Given the description of an element on the screen output the (x, y) to click on. 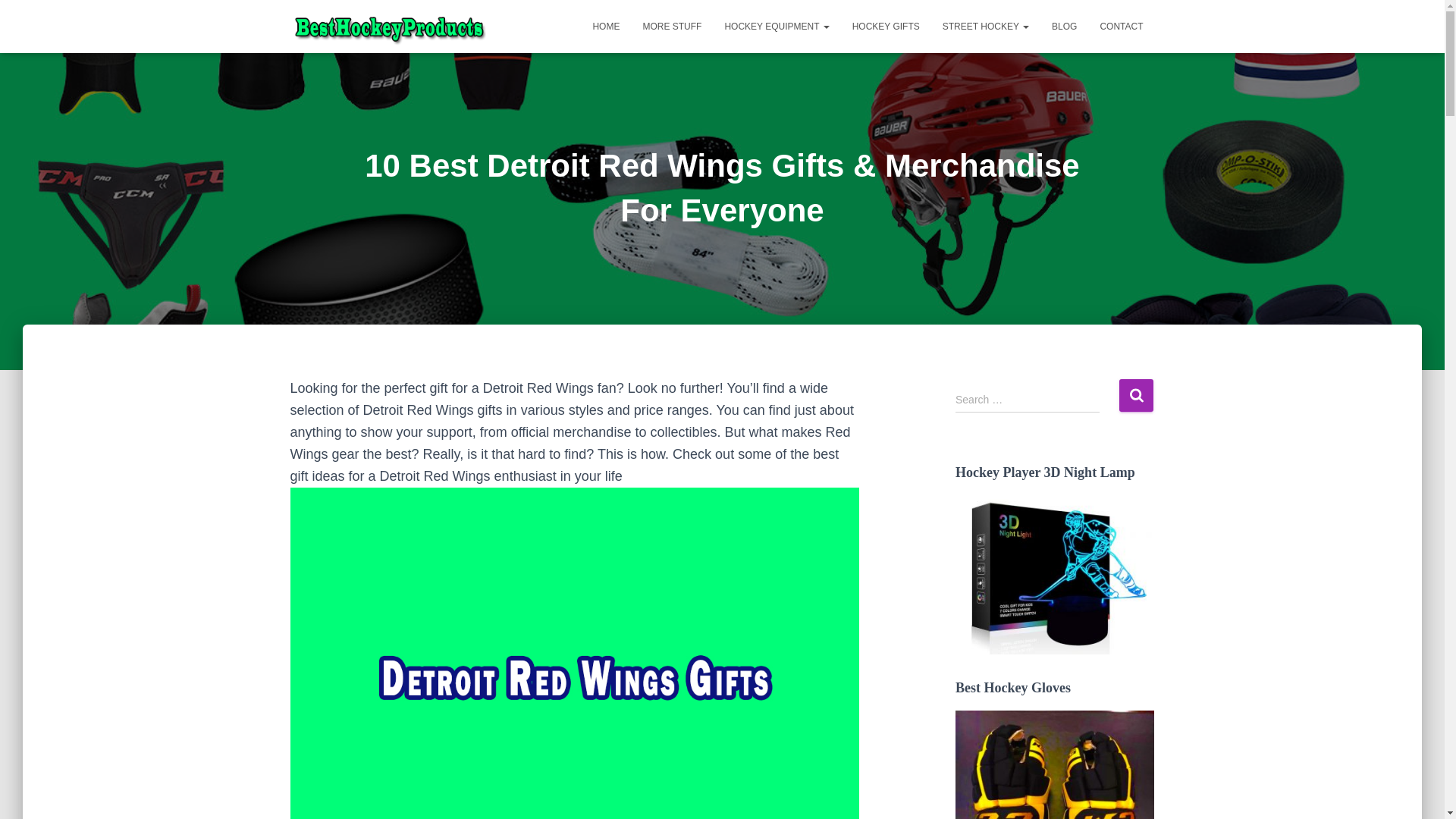
HOCKEY EQUIPMENT (776, 26)
Search (1136, 395)
BLOG (1064, 26)
Home (605, 26)
CONTACT (1120, 26)
STREET HOCKEY (986, 26)
Search (1136, 395)
Best Hockey Gear Reviews 2024 (388, 26)
Hockey Equipment (776, 26)
HOME (605, 26)
More Stuff (671, 26)
MORE STUFF (671, 26)
HOCKEY GIFTS (886, 26)
